Given the description of an element on the screen output the (x, y) to click on. 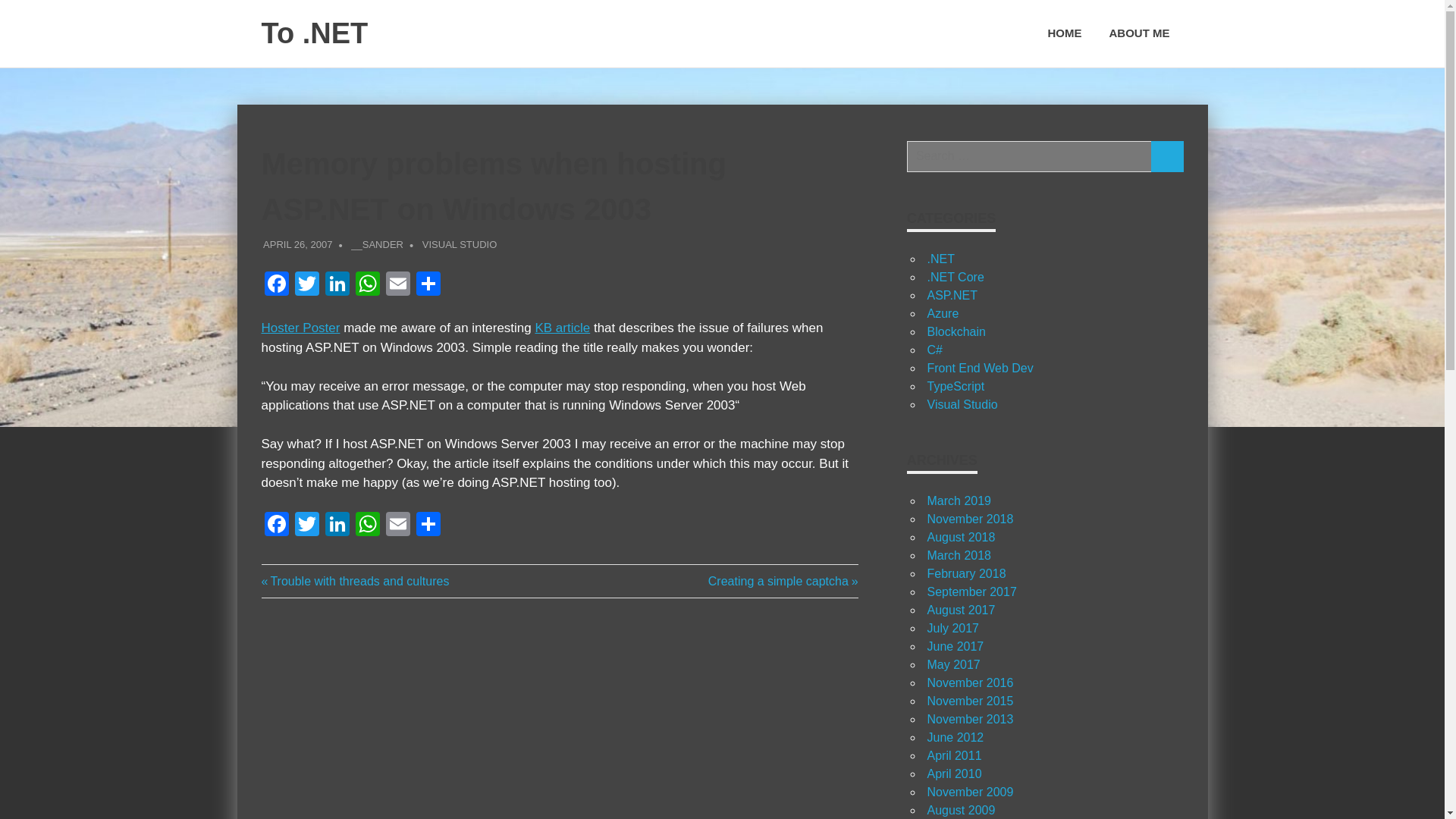
HOME (1064, 33)
Facebook (275, 525)
March 2019 (958, 500)
ABOUT ME (1138, 33)
September 2017 (971, 591)
ASP.NET (951, 295)
WhatsApp (366, 285)
WhatsApp (366, 285)
Visual Studio (961, 404)
LinkedIn (336, 285)
.NET (939, 258)
LinkedIn (336, 525)
.NET Core (955, 277)
August 2018 (960, 536)
Facebook (275, 525)
